Given the description of an element on the screen output the (x, y) to click on. 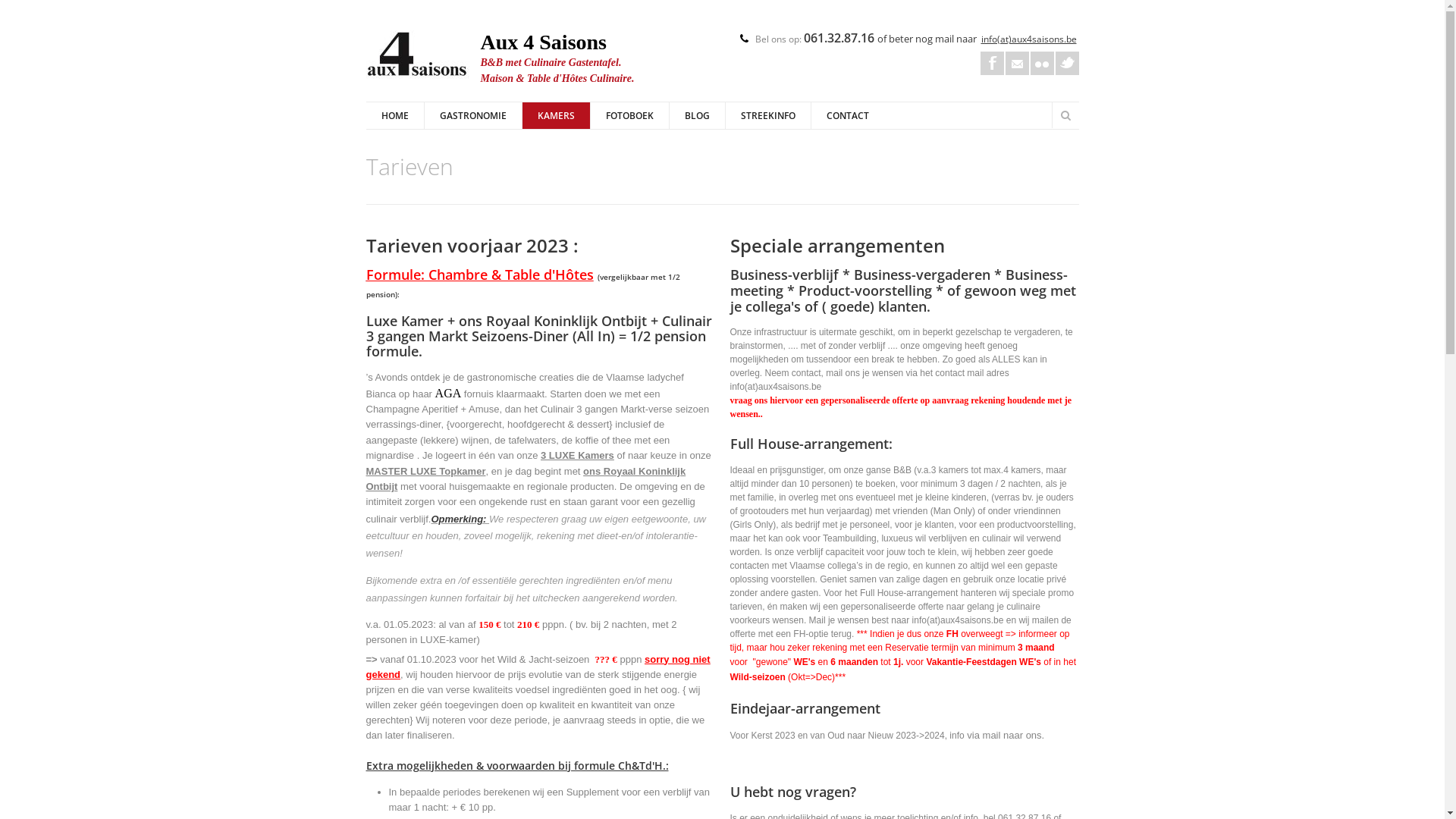
Facebook Element type: text (991, 63)
Mail Element type: text (1017, 63)
BLOG Element type: text (696, 115)
AGA Element type: text (448, 394)
Aux 4 Saisons Element type: text (543, 41)
FOTOBOEK Element type: text (628, 115)
CONTACT Element type: text (846, 115)
KAMERS Element type: text (555, 115)
GASTRONOMIE Element type: text (471, 115)
Flickr Element type: text (1041, 63)
Geef de woorden op waarnaar u wilt zoeken. Element type: hover (1163, 114)
HOME Element type: text (394, 115)
Twitter Element type: text (1067, 63)
Home Element type: hover (418, 56)
STREEKINFO Element type: text (767, 115)
